Given the description of an element on the screen output the (x, y) to click on. 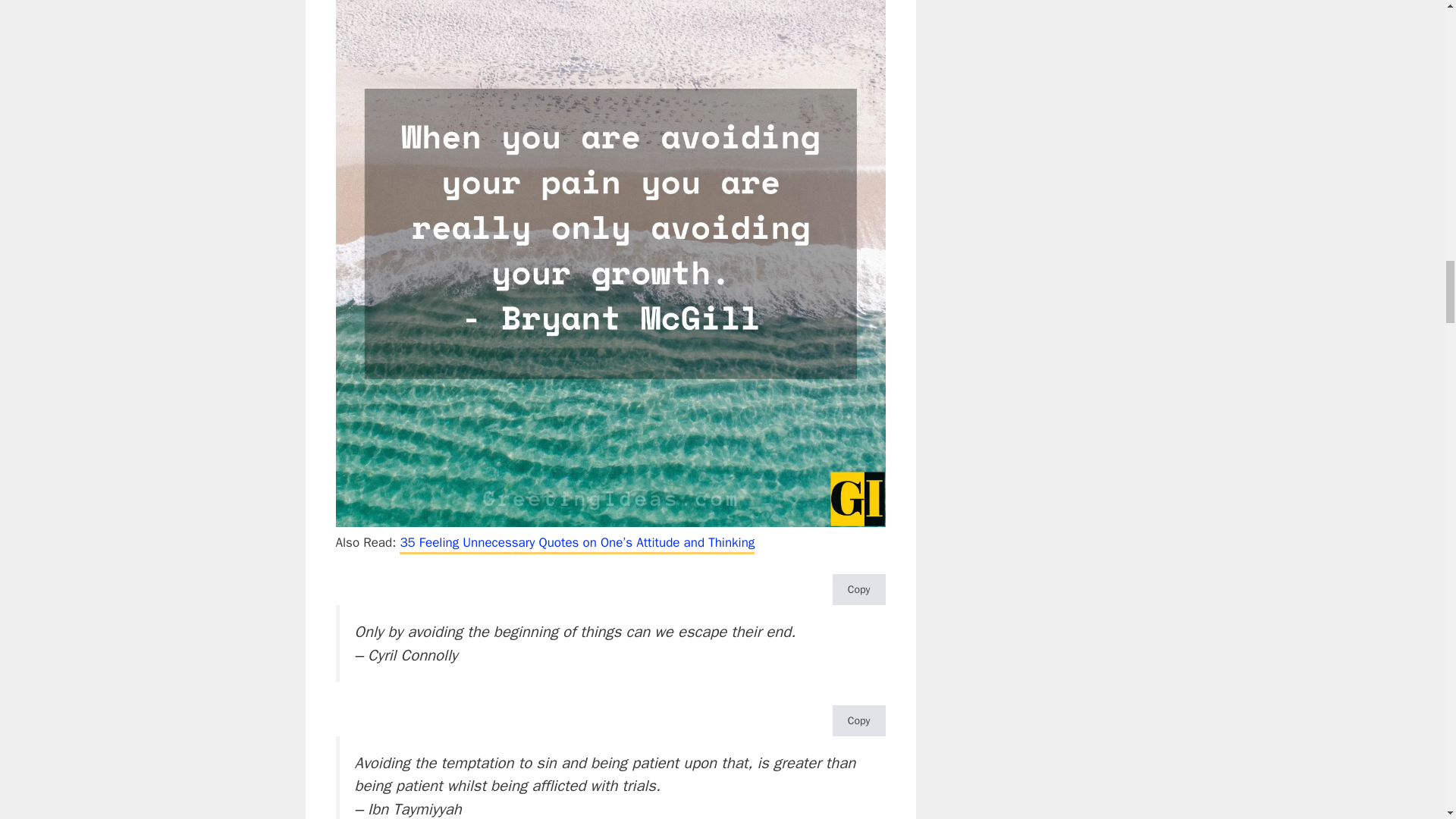
Copy to Clipboard (858, 720)
Copy (858, 720)
Copy to Clipboard (858, 589)
Copy (858, 589)
